Given the description of an element on the screen output the (x, y) to click on. 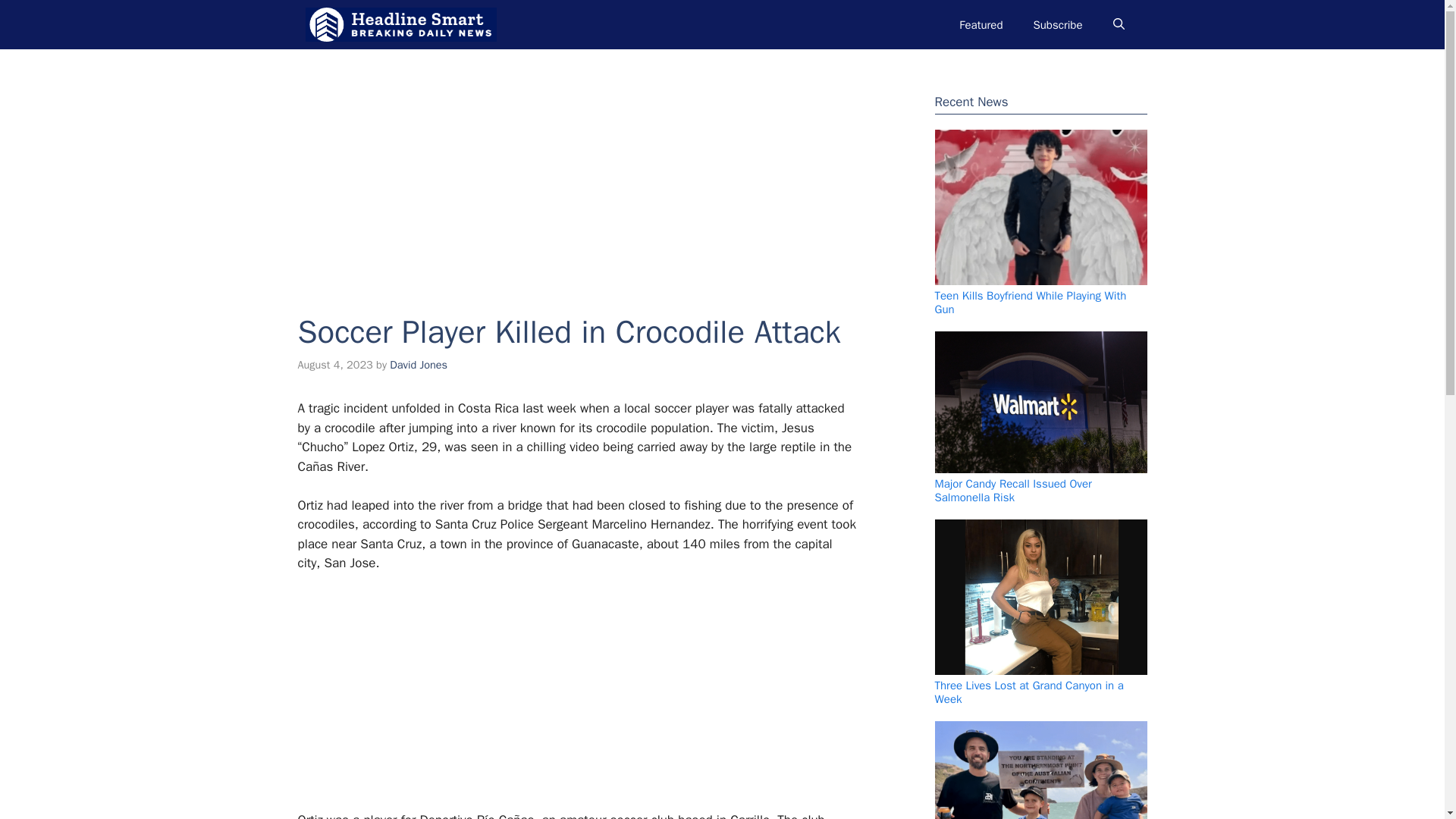
View all posts by David Jones (418, 364)
Major Candy Recall Issued Over Salmonella Risk (1012, 490)
Featured (980, 23)
Headline Smart (400, 24)
Teen Kills Boyfriend While Playing With Gun (1029, 302)
Subscribe (1057, 23)
Advertisement (577, 170)
Advertisement (570, 698)
David Jones (418, 364)
Three Lives Lost at Grand Canyon in a Week (1028, 691)
